Given the description of an element on the screen output the (x, y) to click on. 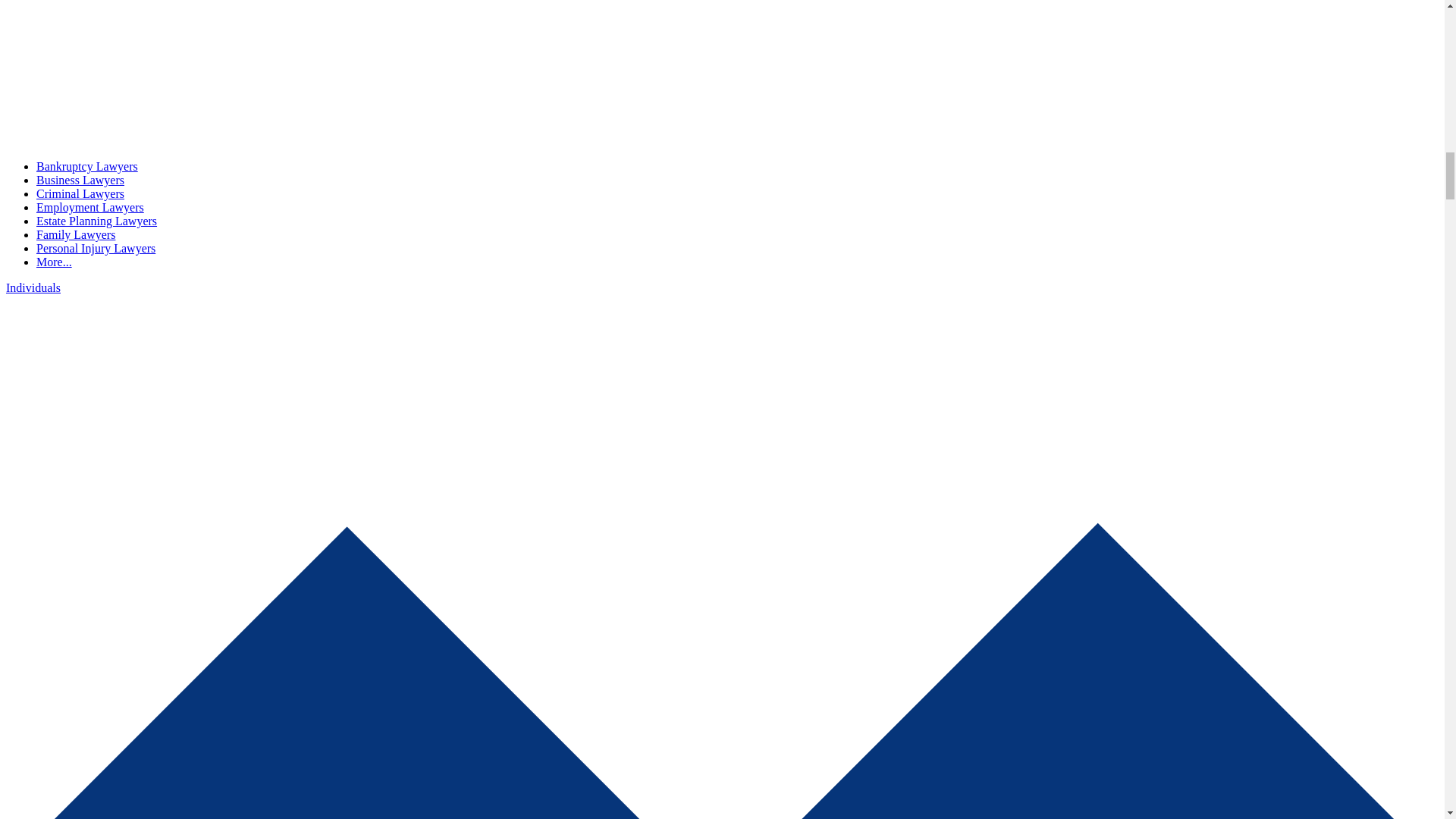
Personal Injury Lawyers (95, 247)
Criminal Lawyers (79, 193)
Employment Lawyers (90, 206)
Estate Planning Lawyers (96, 220)
Business Lawyers (79, 179)
Bankruptcy Lawyers (87, 165)
Family Lawyers (75, 234)
More... (53, 261)
